Given the description of an element on the screen output the (x, y) to click on. 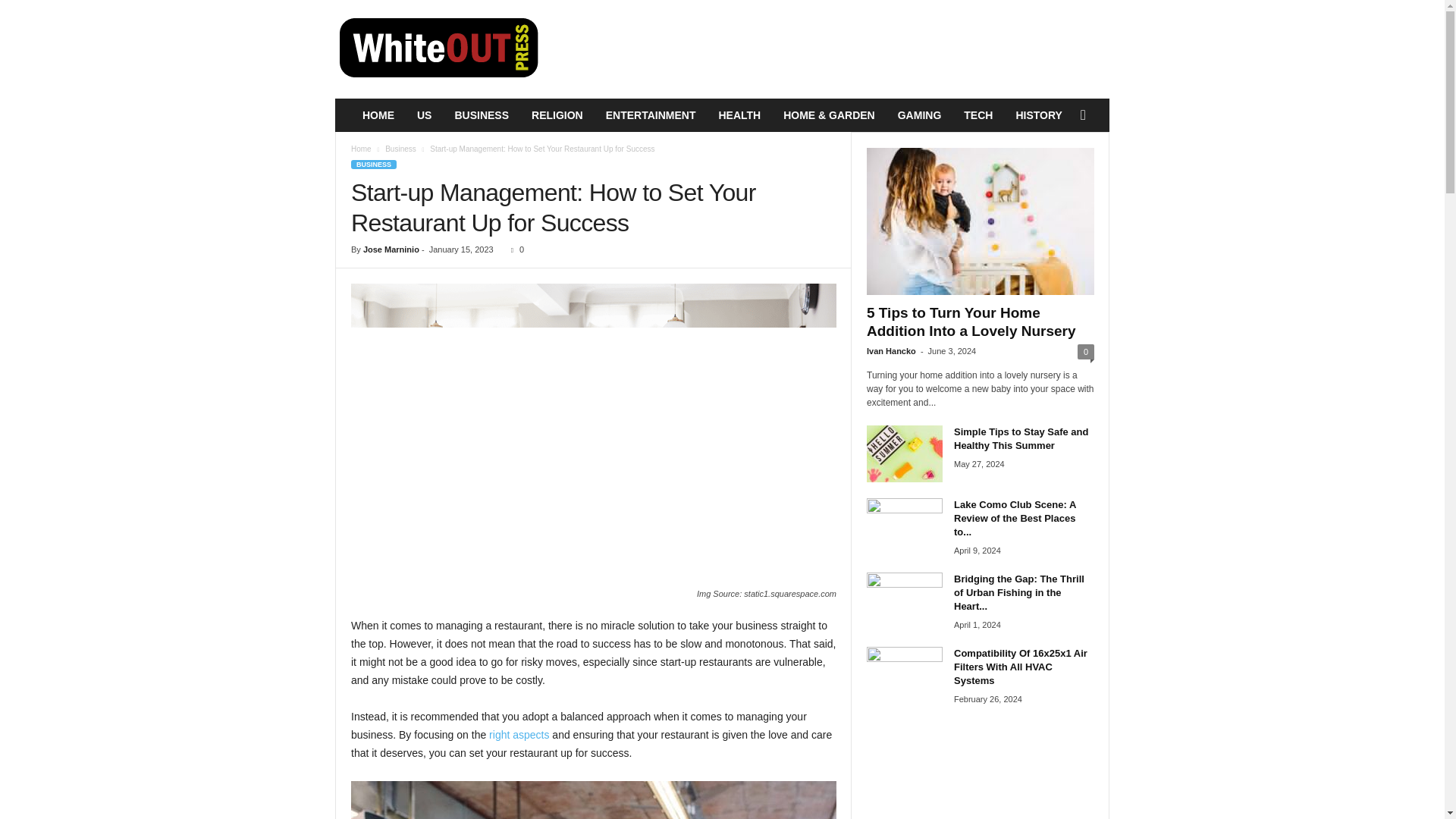
Whiteout Press (437, 49)
0 (514, 248)
Home (360, 148)
BUSINESS (480, 114)
BUSINESS (373, 163)
HISTORY (1038, 114)
5 Tips to Turn Your Home Addition Into a Lovely Nursery (980, 221)
View all posts in Business (400, 148)
HOME (378, 114)
HEALTH (738, 114)
